Given the description of an element on the screen output the (x, y) to click on. 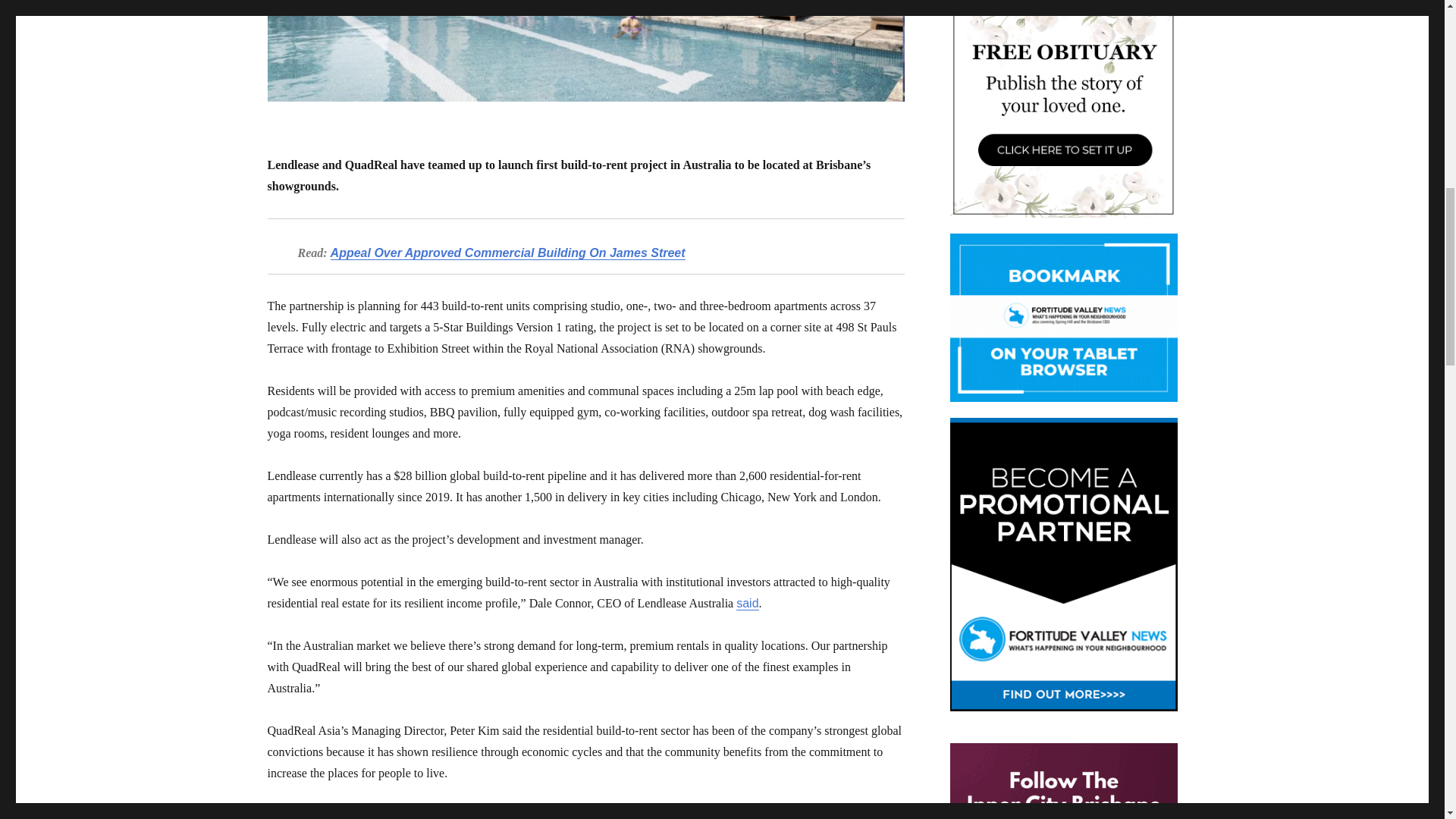
Appeal Over Approved Commercial Building On James Street (507, 252)
said (747, 603)
